Given the description of an element on the screen output the (x, y) to click on. 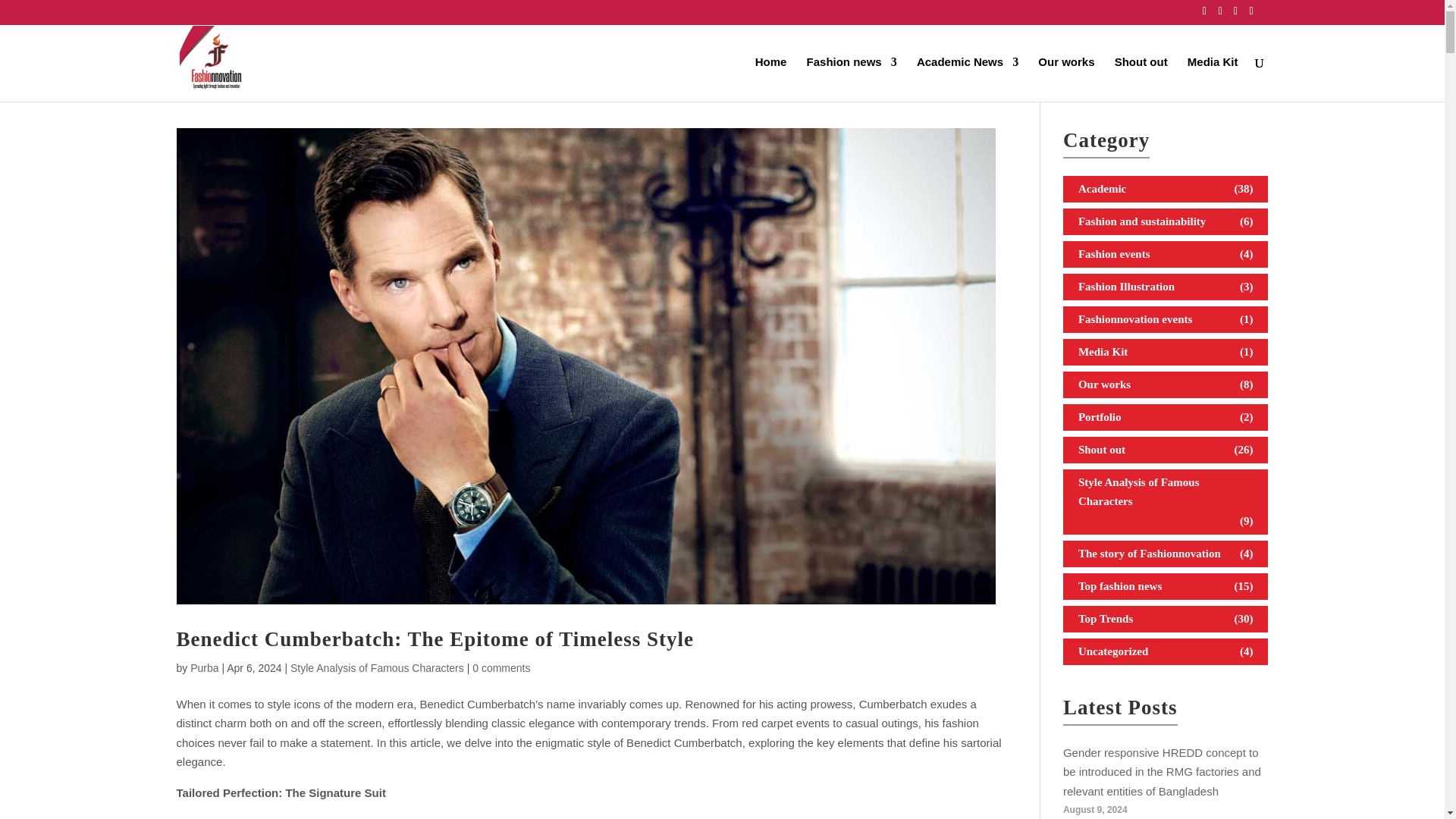
Shout out (1141, 78)
Benedict Cumberbatch: The Epitome of Timeless Style (434, 639)
Fashion news (851, 78)
Our works (1066, 78)
Media Kit (1213, 78)
0 comments (500, 667)
Style Analysis of Famous Characters (376, 667)
Academic News (967, 78)
Posts by Purba (204, 667)
Purba (204, 667)
